Given the description of an element on the screen output the (x, y) to click on. 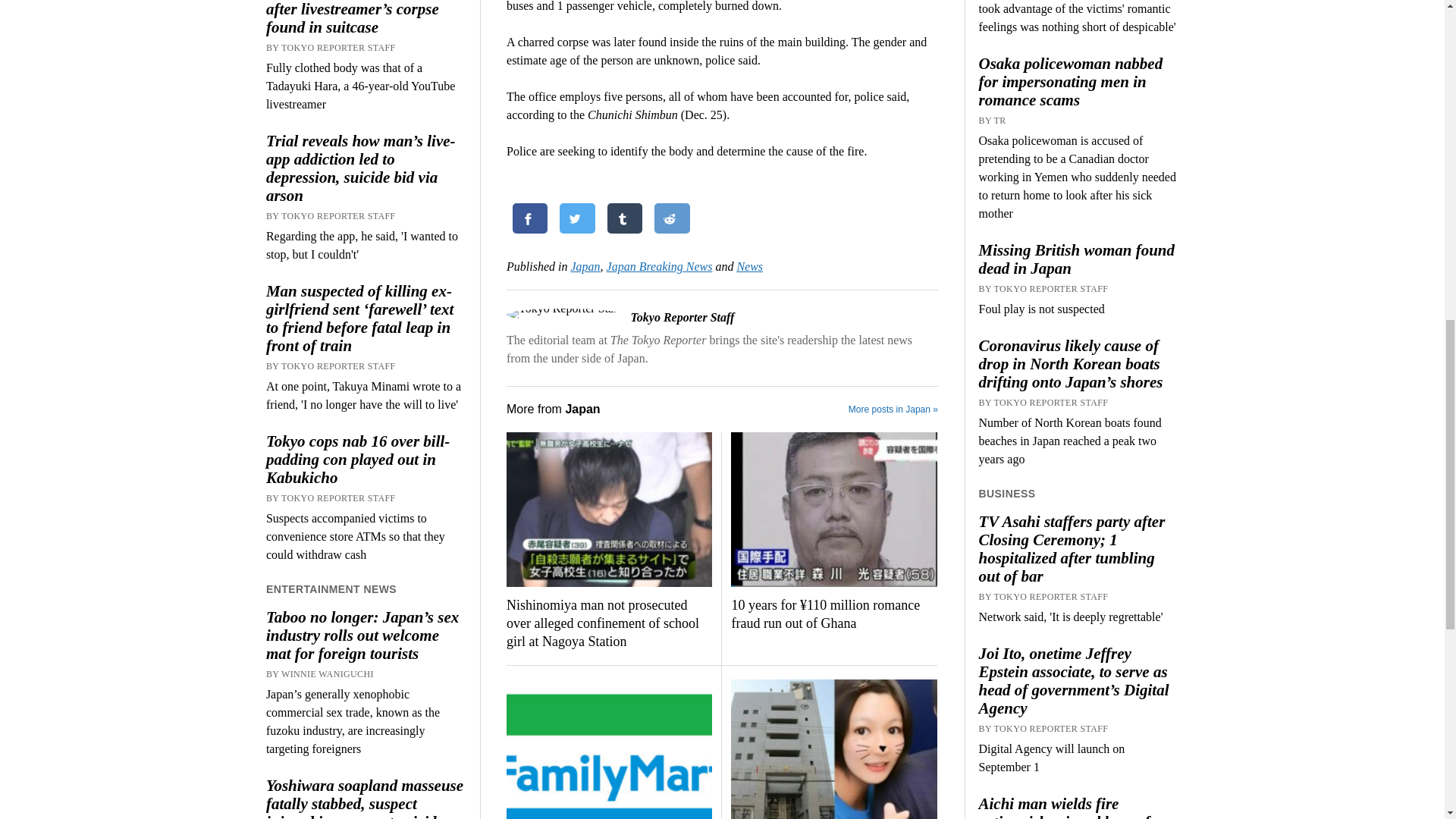
View all posts in Japan (584, 266)
View all posts in News (749, 266)
View all posts in Japan Breaking News (660, 266)
